Given the description of an element on the screen output the (x, y) to click on. 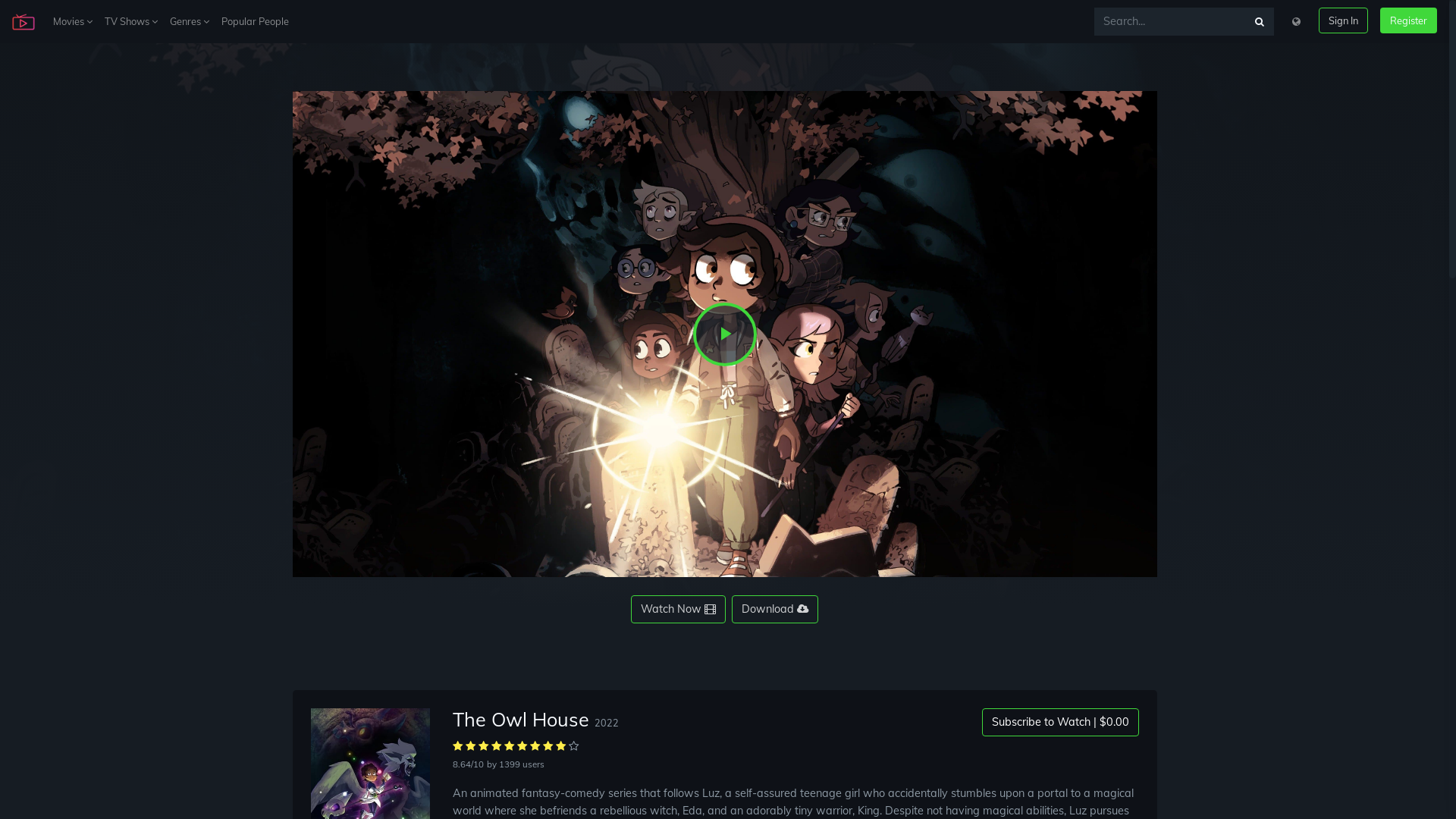
Subscribe to Watch | $0.00 Element type: text (1059, 722)
Play Video Element type: text (724, 334)
TV Shows Element type: text (130, 20)
Download Element type: text (774, 609)
Sign In Element type: text (1343, 20)
Watch Now Element type: text (677, 609)
Register Element type: text (1408, 20)
Movies Element type: text (72, 20)
Popular People Element type: text (254, 20)
Genres Element type: text (189, 20)
